Given the description of an element on the screen output the (x, y) to click on. 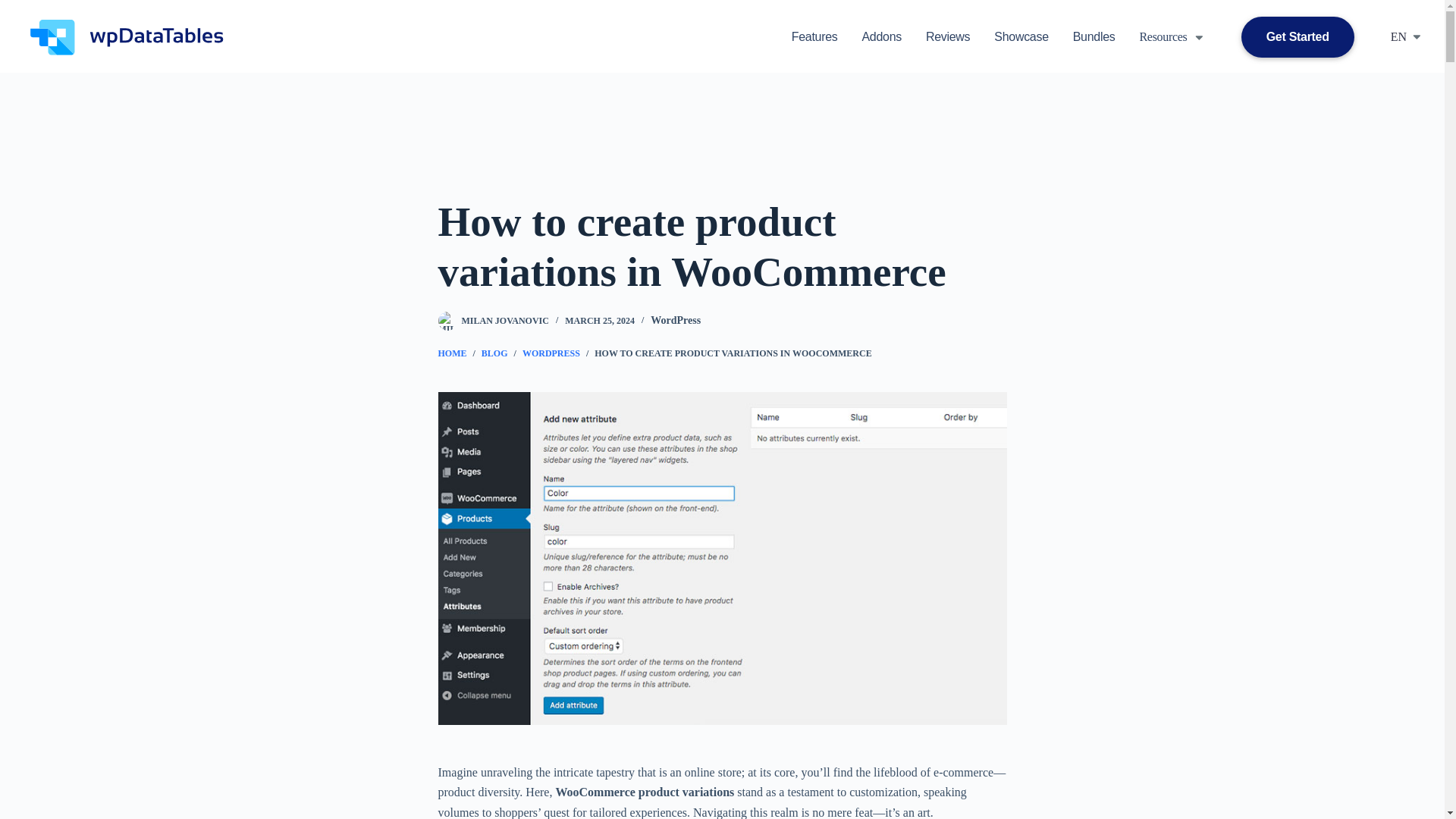
BLOG (494, 353)
MILAN JOVANOVIC (504, 320)
Reviews (947, 36)
How to create product variations in WooCommerce (722, 247)
Showcase (1021, 36)
Purchase wpDataTables (1297, 36)
WORDPRESS (550, 353)
HOME (452, 353)
Posts by Milan Jovanovic (504, 320)
Addons (881, 36)
Get Started (1297, 36)
Skip to content (15, 7)
WordPress (675, 319)
Features (815, 36)
Bundles (1094, 36)
